Given the description of an element on the screen output the (x, y) to click on. 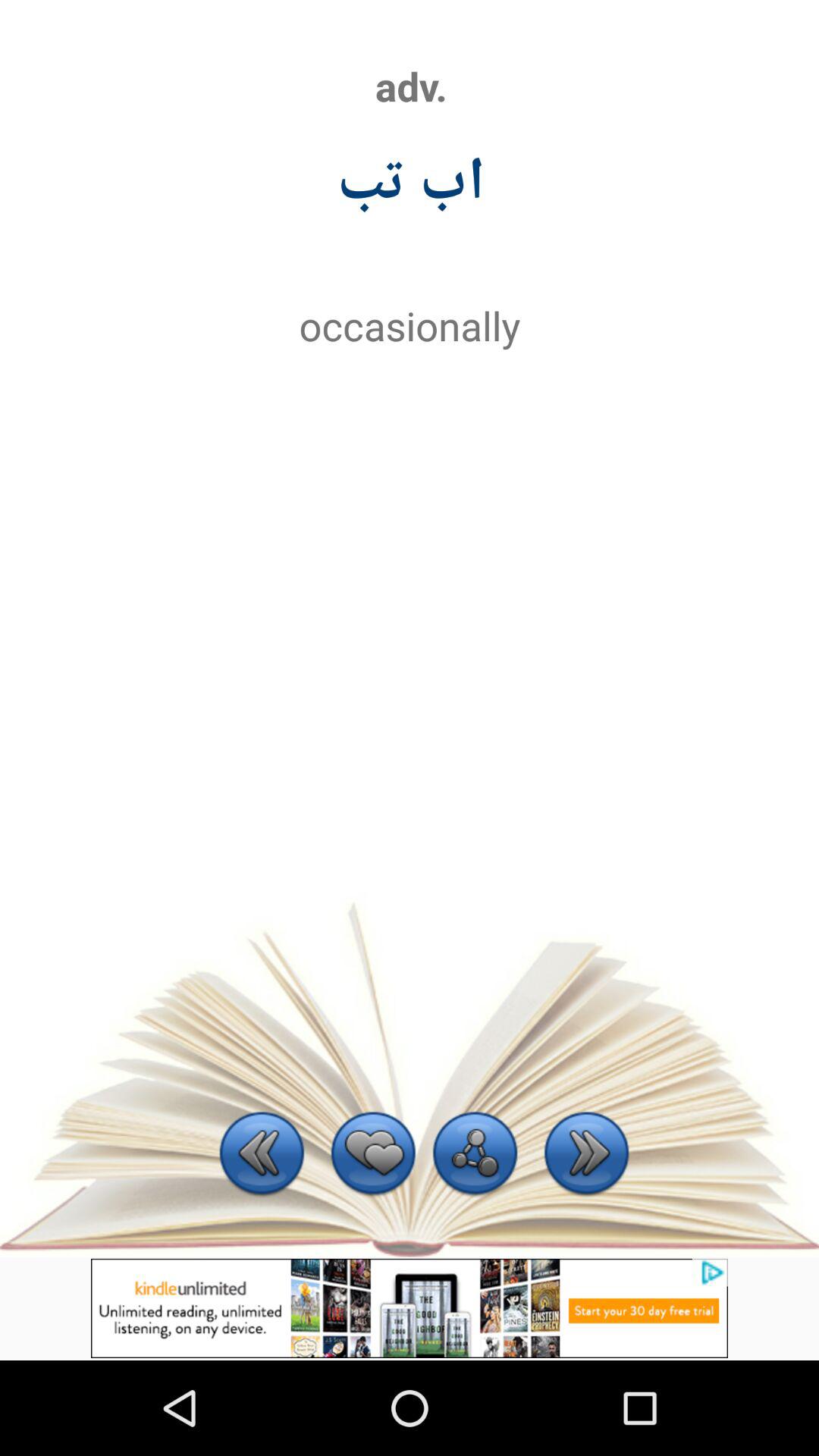
come back (261, 1155)
